Given the description of an element on the screen output the (x, y) to click on. 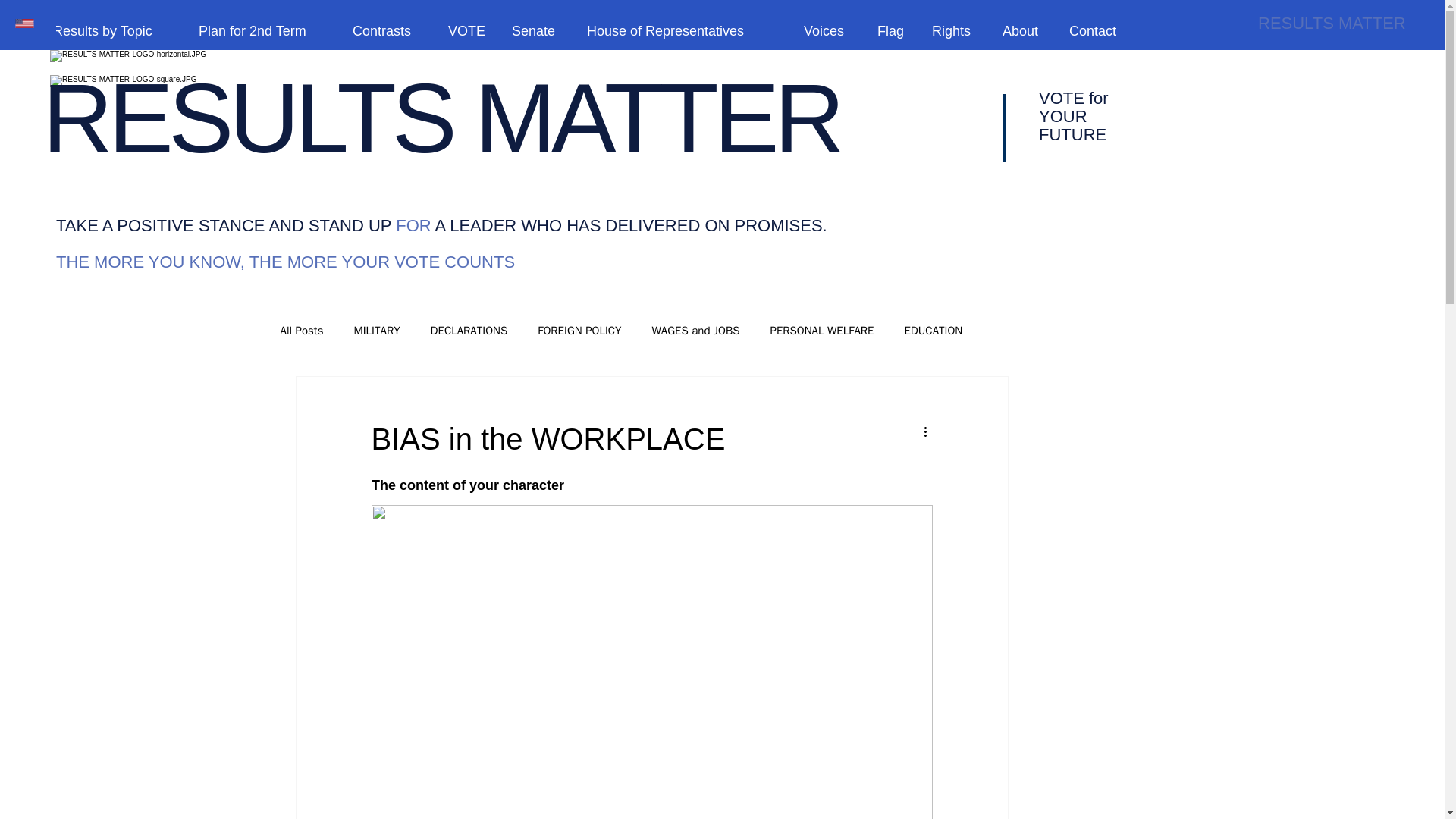
RESULTS MATTER (441, 117)
Plan for 2nd Term (263, 30)
Results by Topic (114, 30)
EDUCATION (933, 329)
WAGES and JOBS (695, 329)
VOTE (468, 30)
Rights (955, 30)
All Posts (302, 329)
About (1024, 30)
Voices (829, 30)
PERSONAL WELFARE (821, 329)
Senate (537, 30)
FOREIGN POLICY (579, 329)
Flag (893, 30)
Contrasts (388, 30)
